Given the description of an element on the screen output the (x, y) to click on. 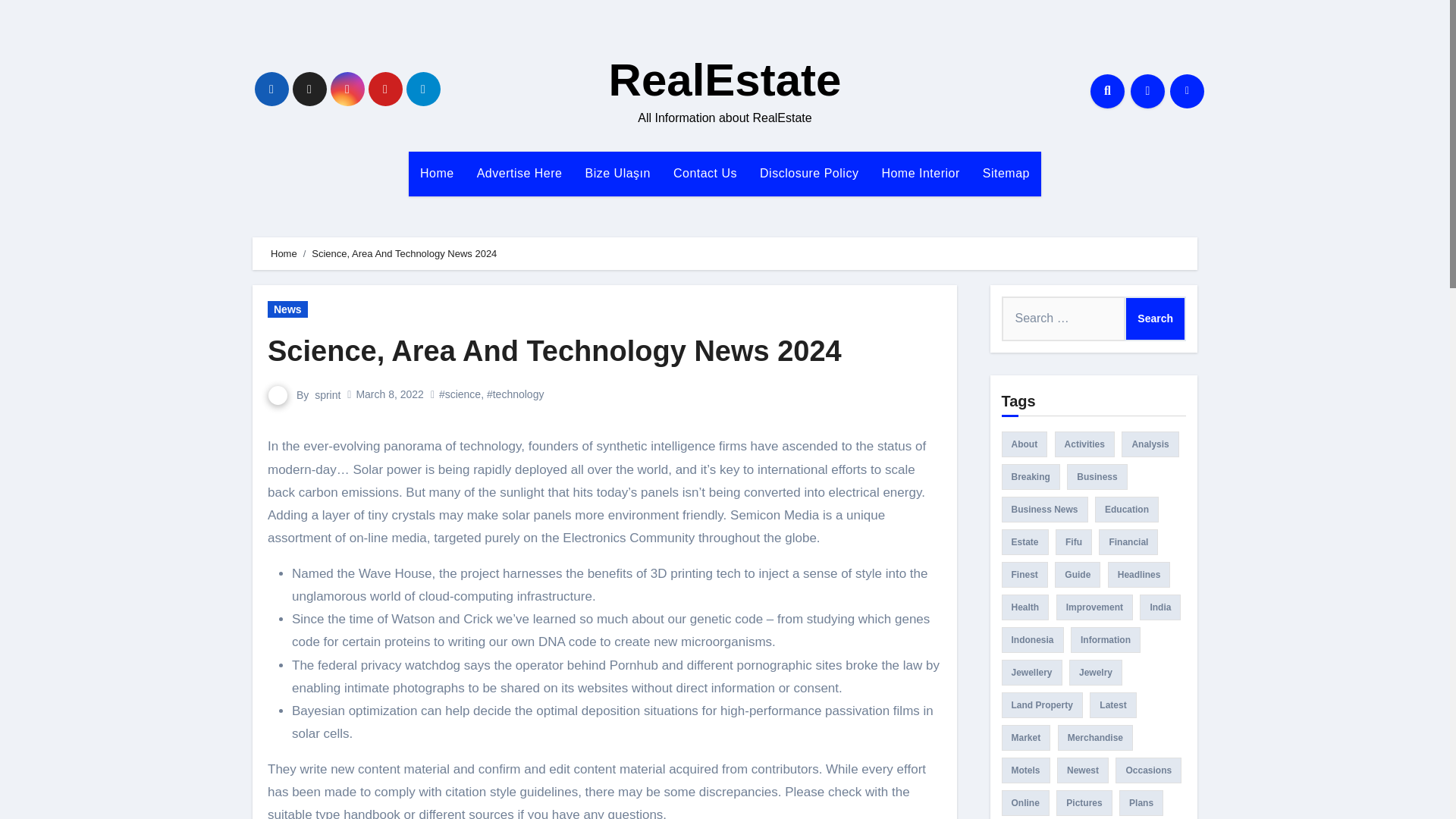
RealEstate (724, 79)
Search (1155, 318)
Home Interior (920, 173)
Home (437, 173)
News (287, 309)
March 8, 2022 (389, 394)
Disclosure Policy (808, 173)
Search (1155, 318)
Home (283, 253)
Contact Us (705, 173)
